Given the description of an element on the screen output the (x, y) to click on. 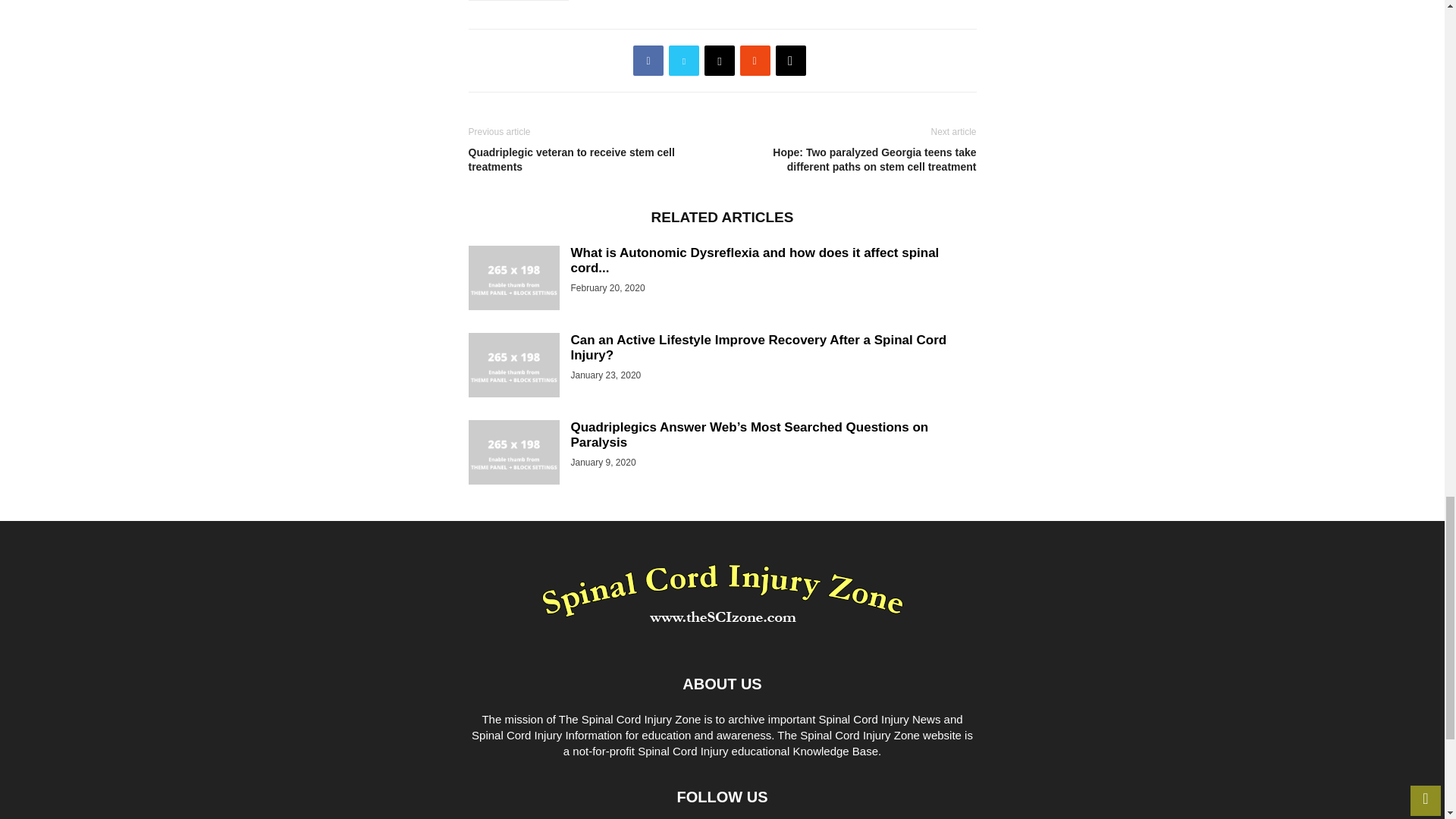
Email (719, 60)
Mix (754, 60)
Twitter (683, 60)
Facebook (648, 60)
Digg (791, 60)
Quadriplegic veteran to receive stem cell treatments (591, 159)
The Spinal Cord Injury Zone (721, 592)
